Given the description of an element on the screen output the (x, y) to click on. 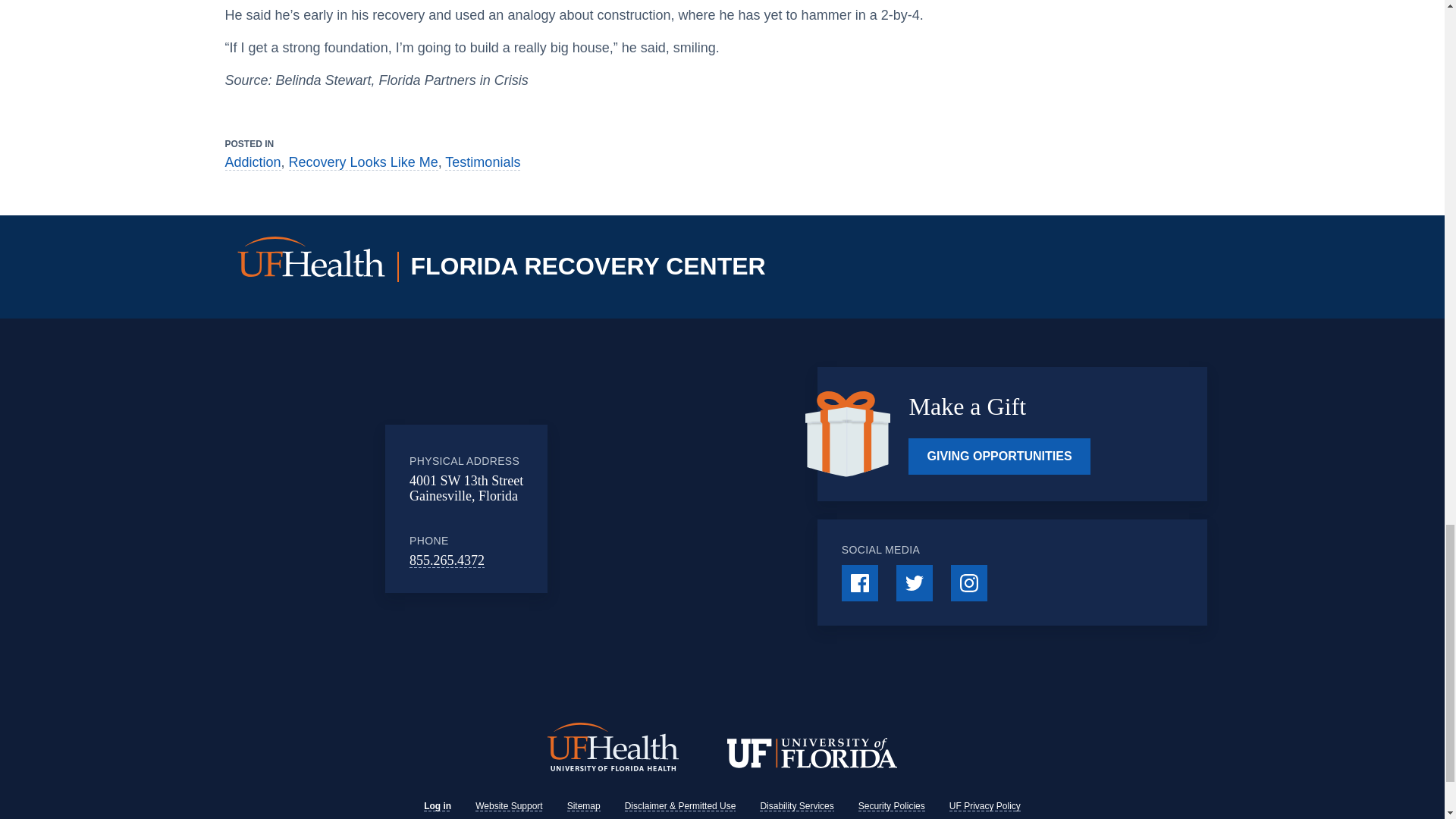
Website Support (509, 805)
UF Privacy Policy (984, 805)
Sitemap (583, 805)
Security Policies (891, 805)
855.265.4372 (446, 560)
Disability Services (796, 805)
Log in (437, 805)
